Given the description of an element on the screen output the (x, y) to click on. 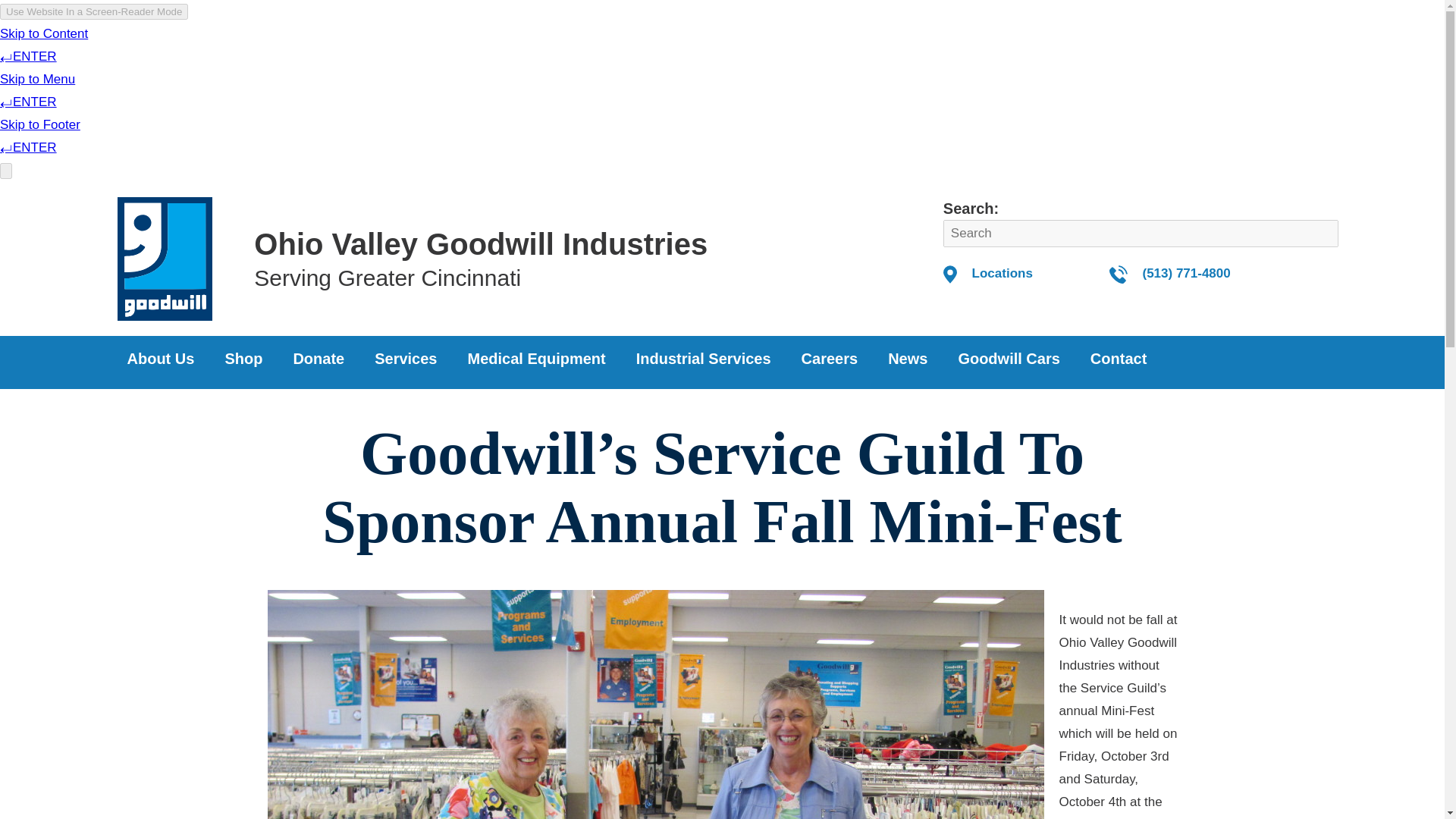
Locations (1002, 273)
